Given the description of an element on the screen output the (x, y) to click on. 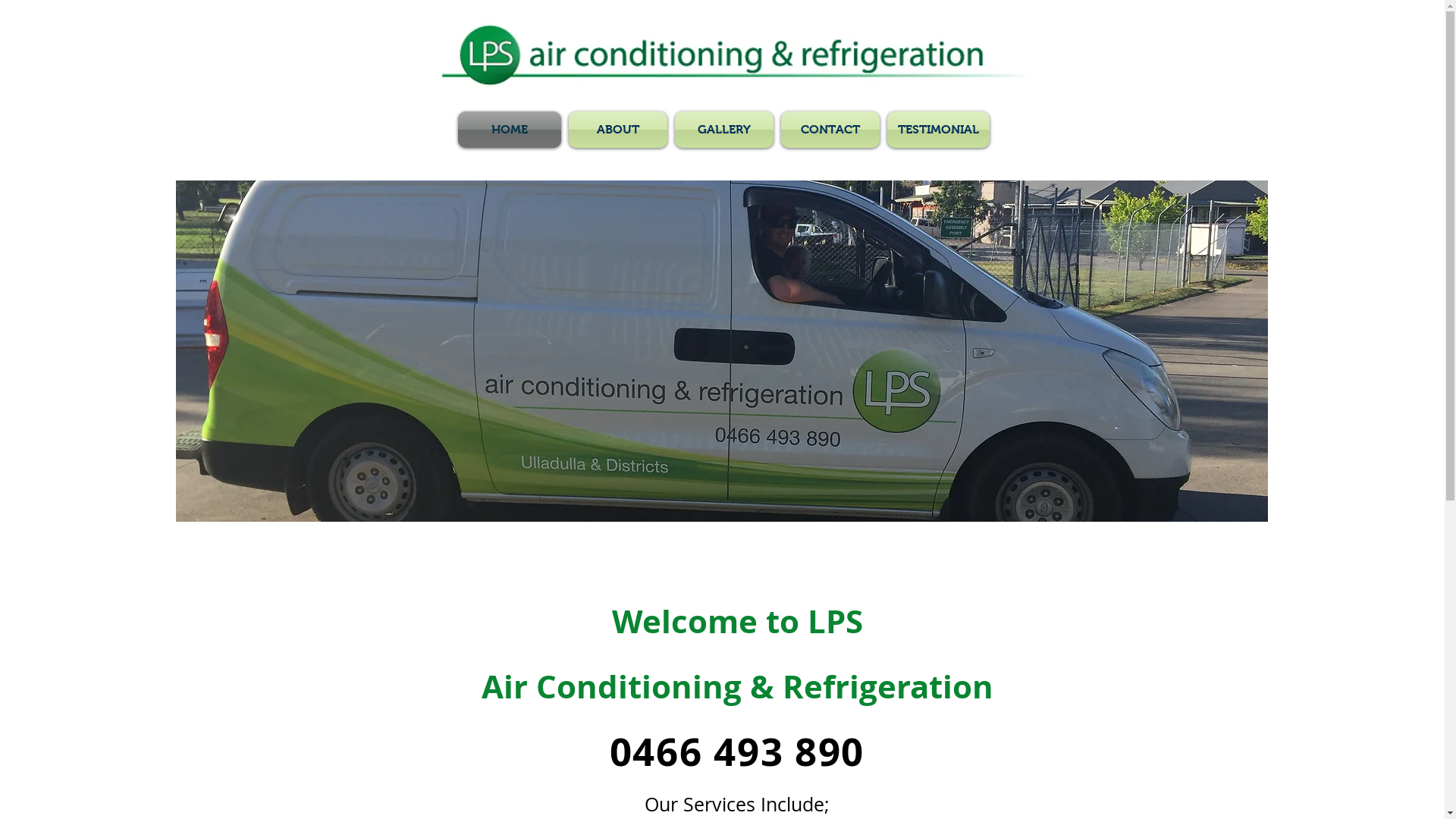
HOME Element type: text (511, 129)
TESTIMONIAL Element type: text (935, 129)
CONTACT Element type: text (829, 129)
GALLERY Element type: text (723, 129)
ABOUT Element type: text (617, 129)
